Given the description of an element on the screen output the (x, y) to click on. 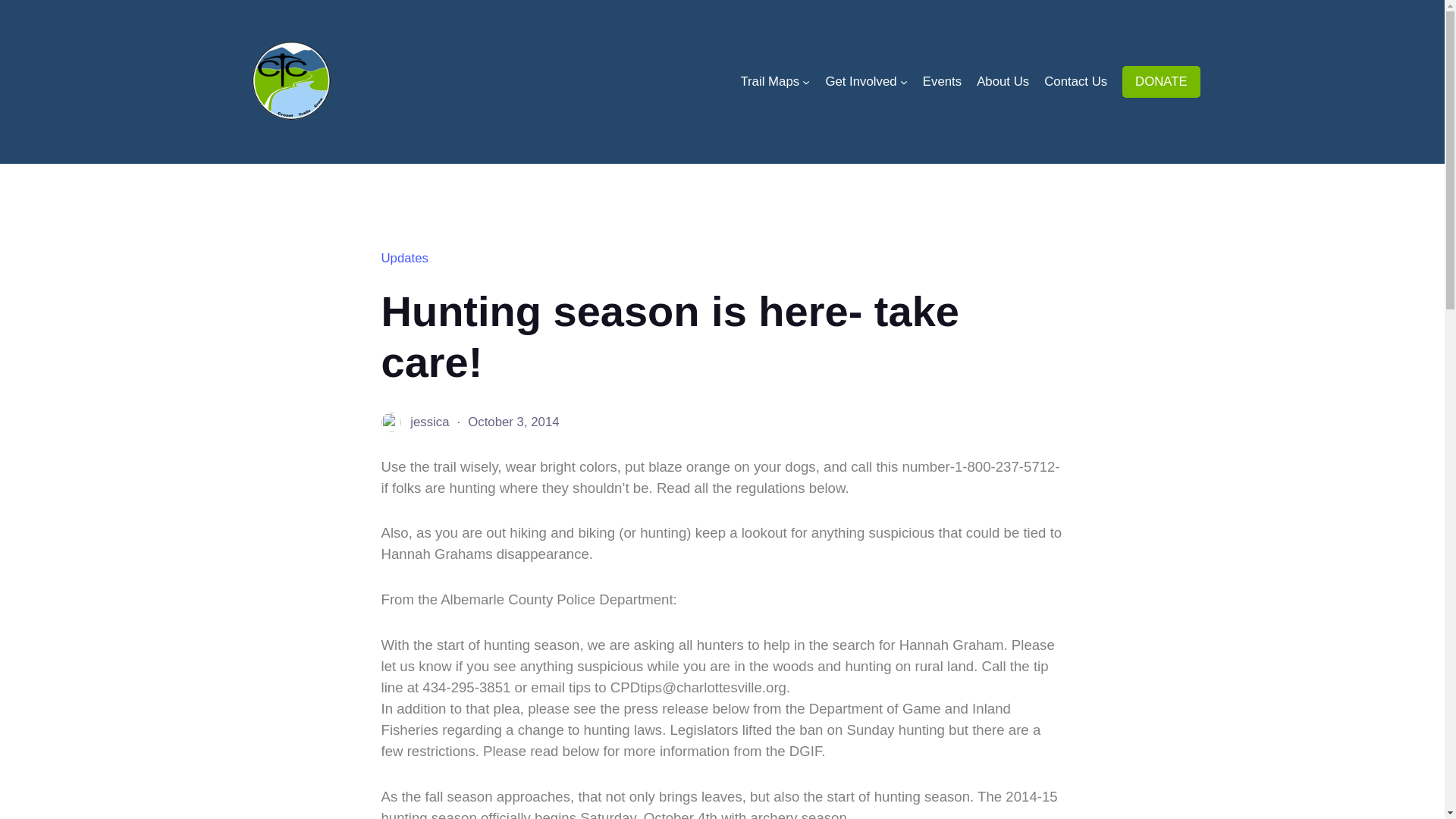
About Us (1002, 81)
DONATE (1160, 81)
Contact Us (1074, 81)
Events (941, 81)
Updates (404, 257)
Trail Maps (769, 81)
Get Involved (860, 81)
